Given the description of an element on the screen output the (x, y) to click on. 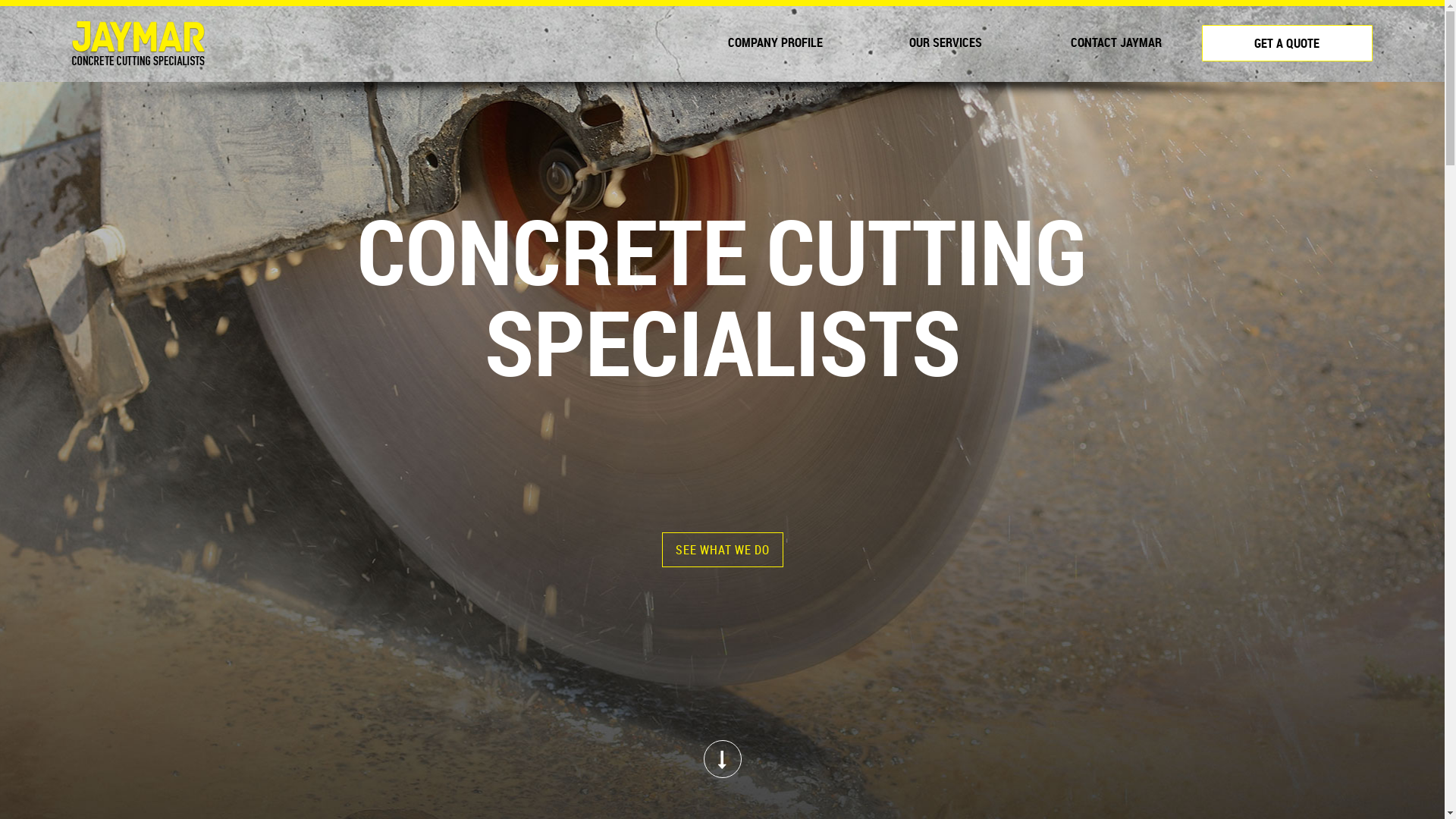
SEE WHAT WE DO Element type: text (721, 549)
COMPANY PROFILE Element type: text (775, 42)
GET A QUOTE Element type: text (1286, 43)
CONTACT JAYMAR Element type: text (1116, 42)
OUR SERVICES Element type: text (945, 42)
